Given the description of an element on the screen output the (x, y) to click on. 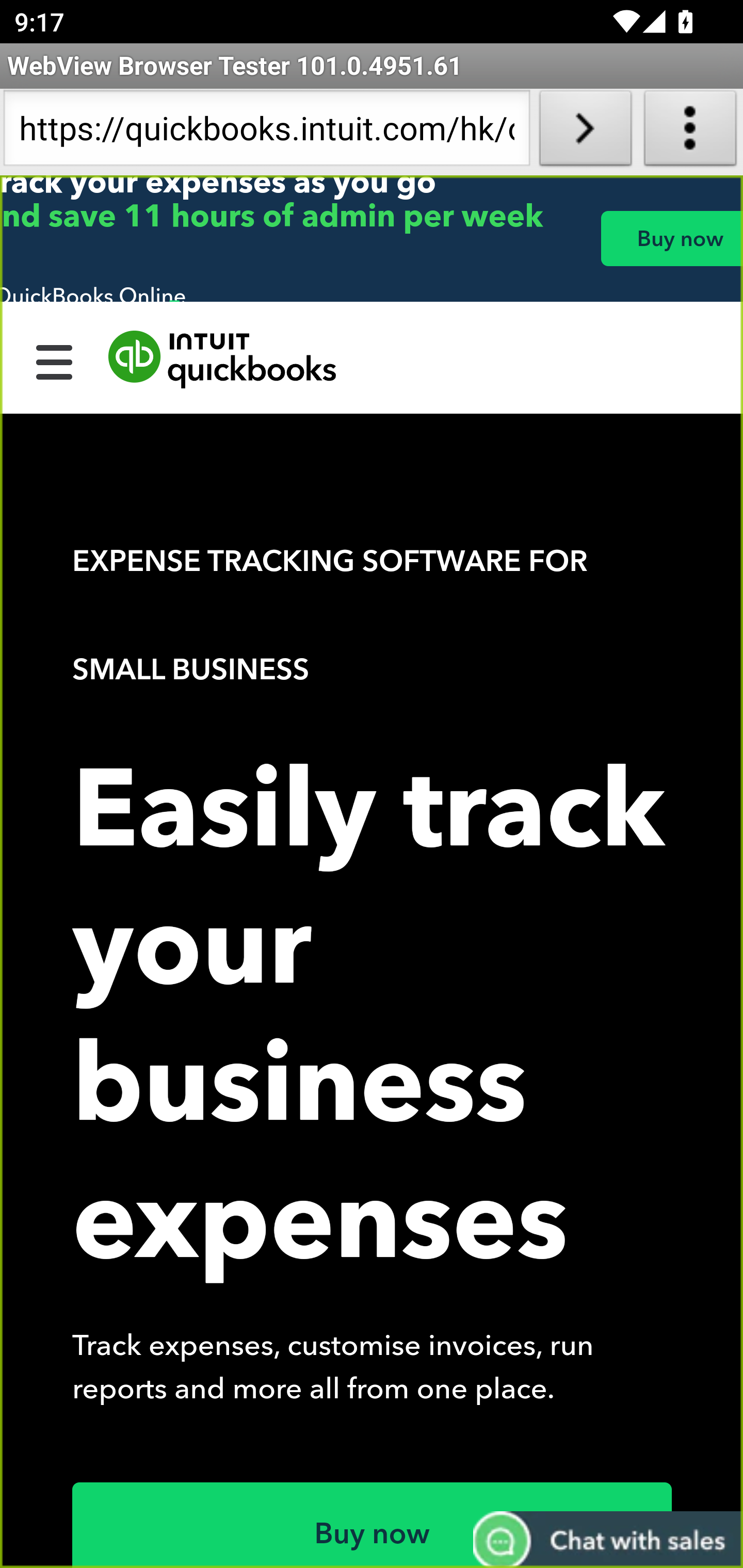
Load URL (585, 132)
About WebView (690, 132)
Buy now (671, 238)
quickbooks-mobile-burger (54, 359)
quickbooks (222, 359)
Buy now (372, 1524)
